Given the description of an element on the screen output the (x, y) to click on. 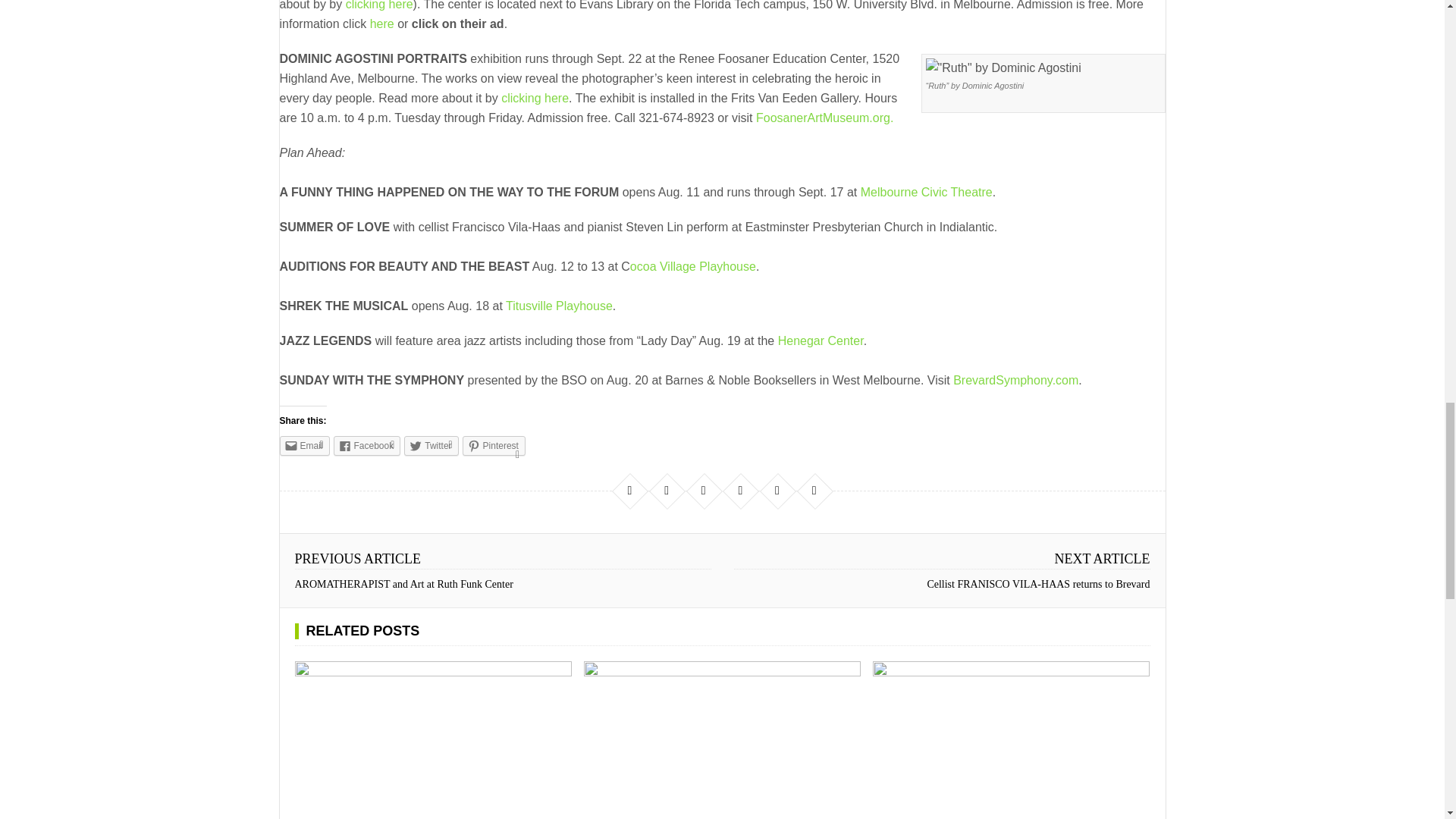
Email (304, 445)
Share on Twitter (665, 490)
Twitter (431, 445)
Facebook (367, 445)
Melbourne Civic Theatre (926, 192)
Click to share on Twitter (431, 445)
Click to share on Facebook (367, 445)
HENEGAR and TITUSVILLE PLAYHOUSE split (721, 739)
Share on Facebook (629, 490)
here (381, 23)
